Given the description of an element on the screen output the (x, y) to click on. 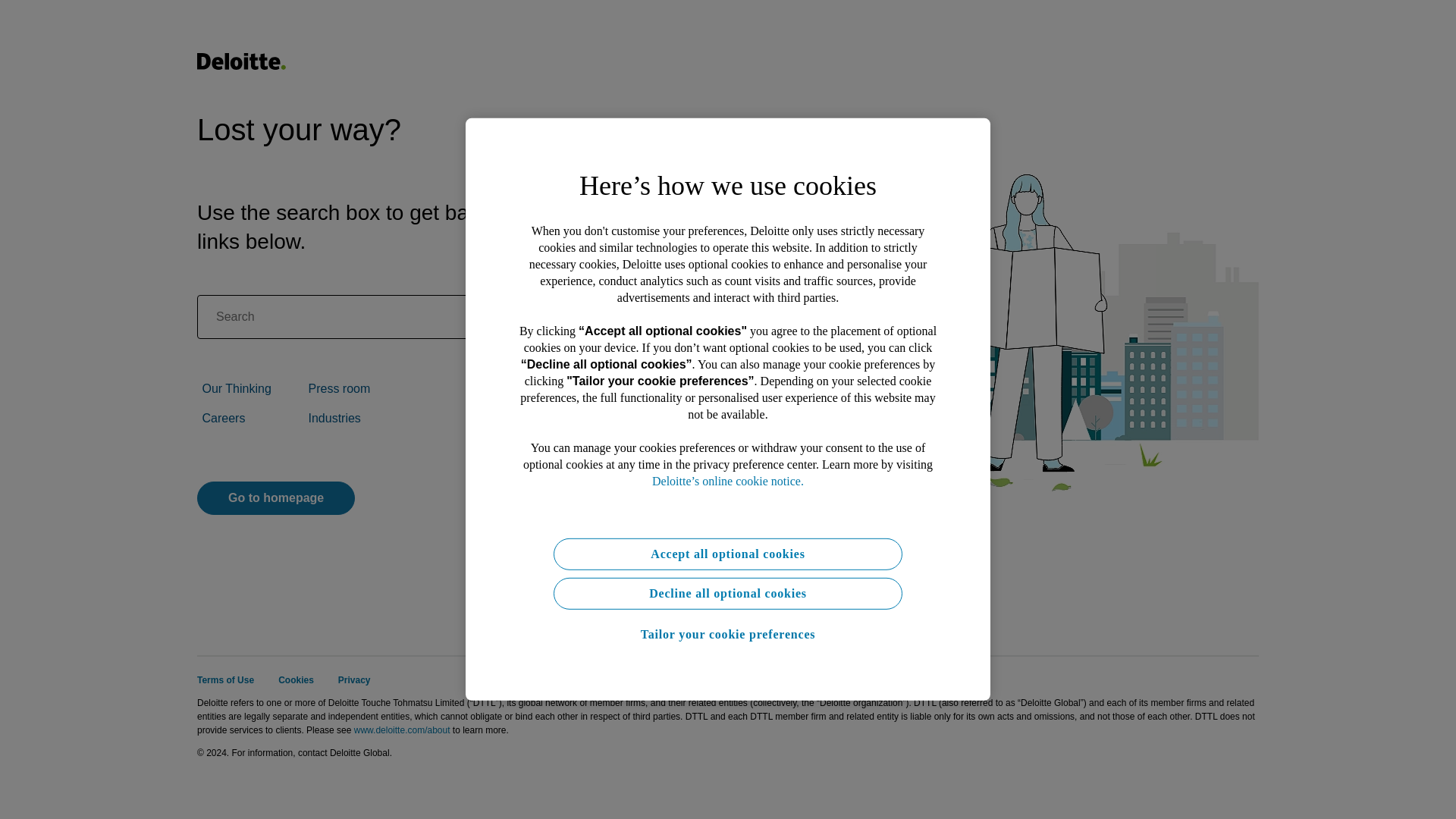
Accept all optional cookies (727, 554)
Tailor your cookie preferences (727, 634)
Privacy (354, 679)
Careers (223, 418)
Decline all optional cookies (727, 593)
Go to homepage (275, 498)
Our Thinking (236, 388)
Industries (333, 418)
Cookies (296, 679)
Terms of Use (224, 679)
